Given the description of an element on the screen output the (x, y) to click on. 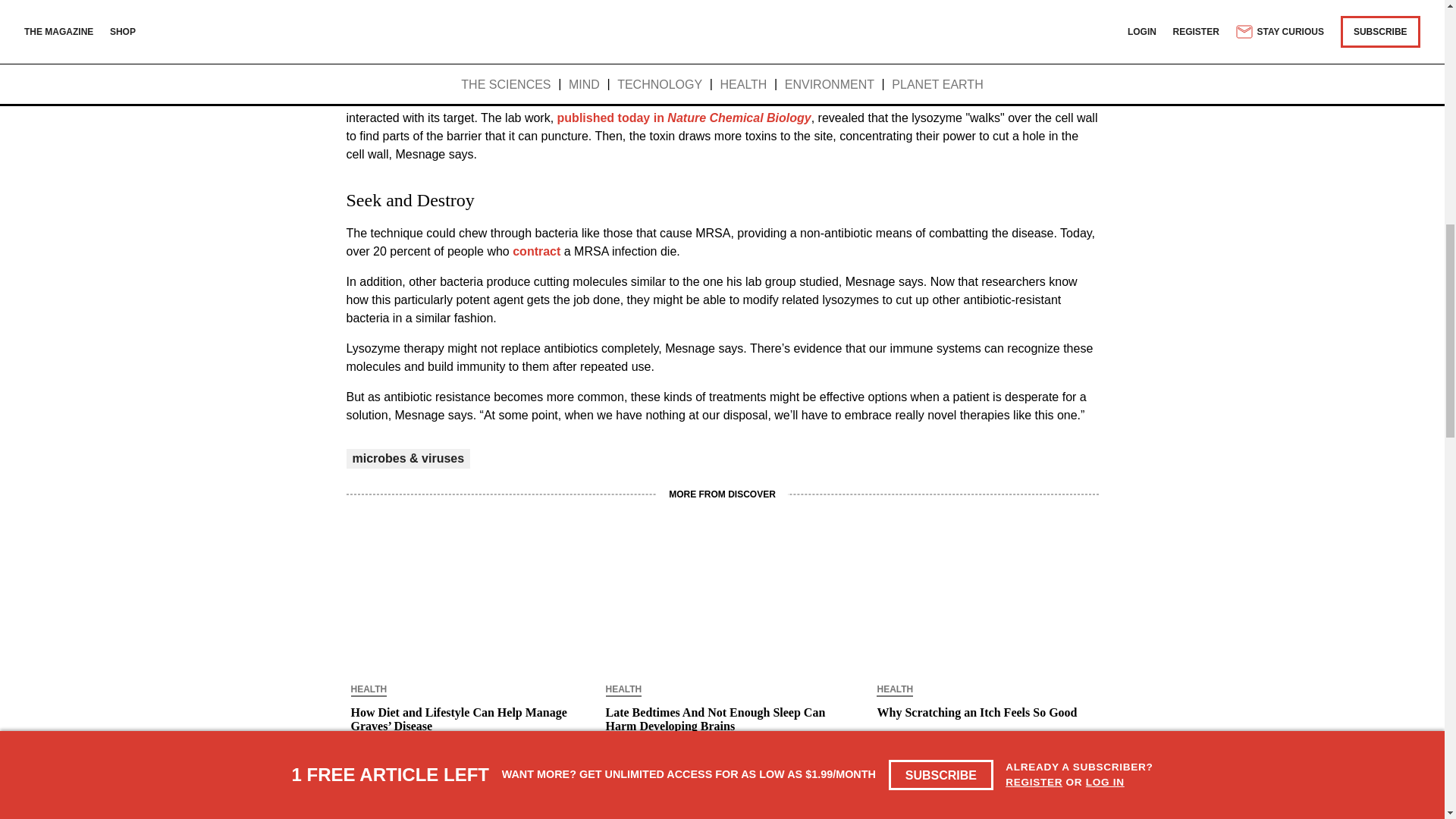
HEALTH (623, 690)
HEALTH (368, 690)
published today in Nature Chemical Biology (683, 117)
die (1026, 1)
contract (536, 250)
